Given the description of an element on the screen output the (x, y) to click on. 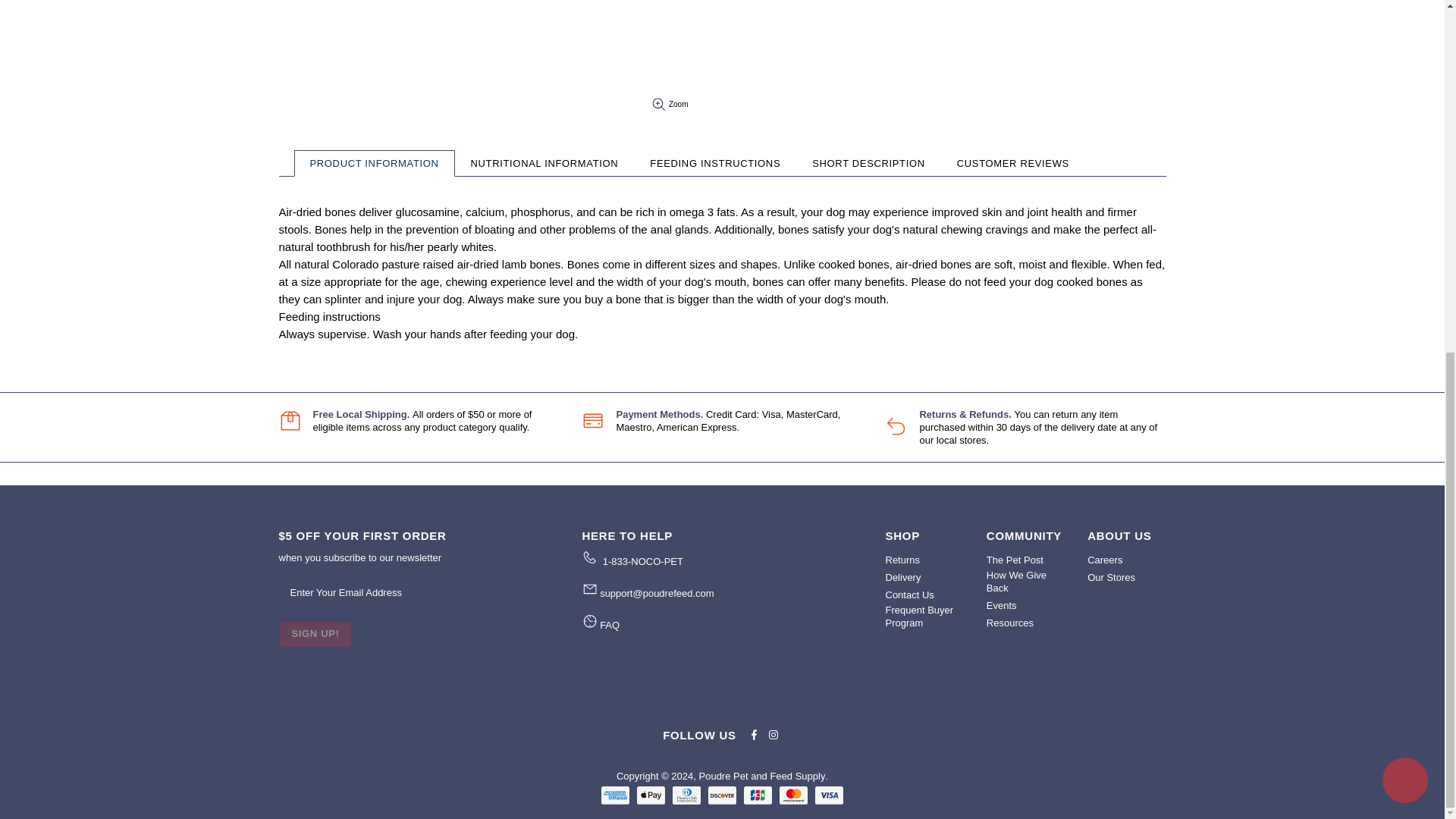
Shopify online store chat (1404, 166)
email (656, 593)
SIGN UP! (315, 633)
Phone number (642, 561)
